Given the description of an element on the screen output the (x, y) to click on. 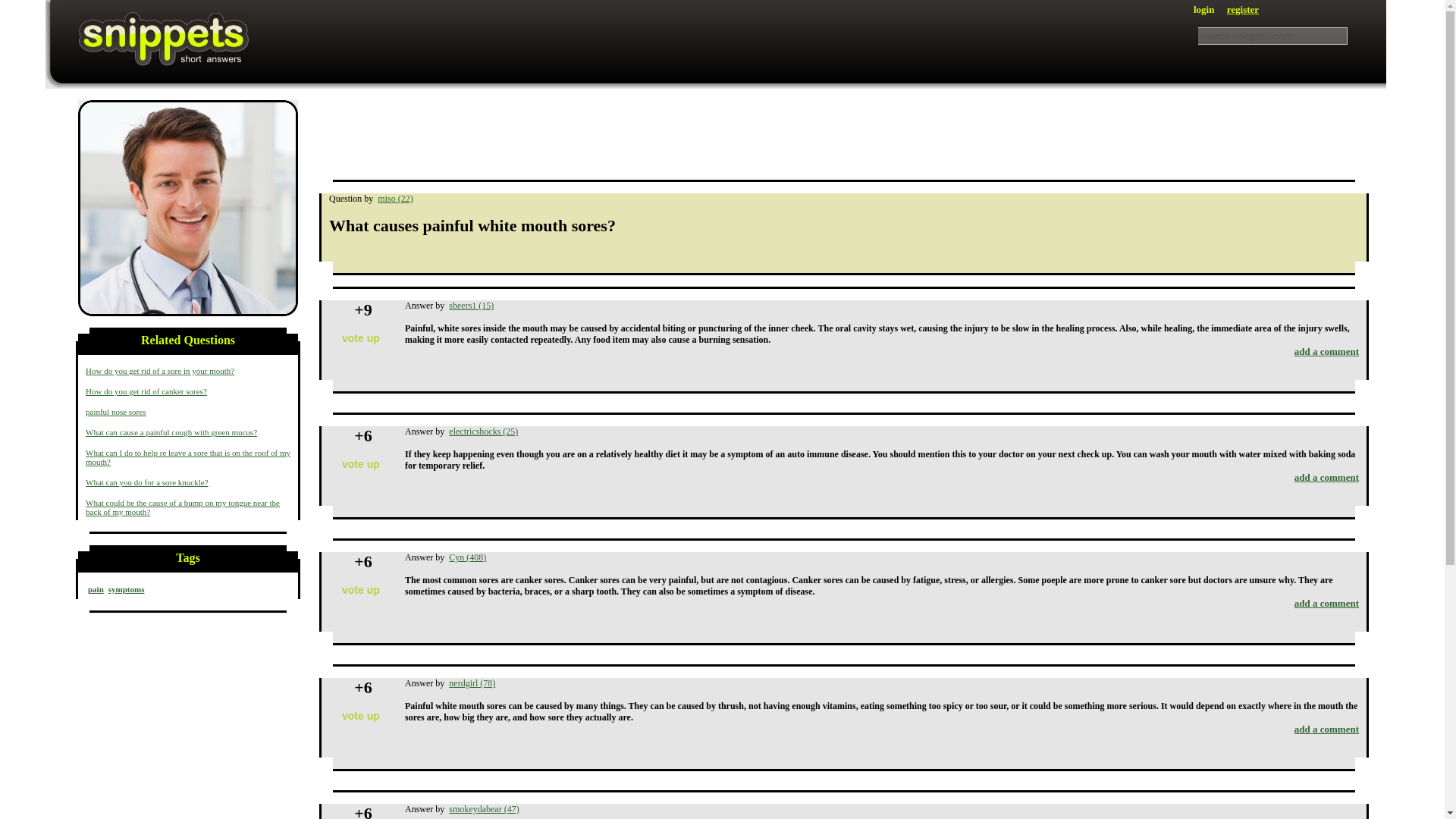
symptoms (125, 588)
painful nose sores (115, 411)
add a comment (1326, 477)
symptoms (188, 207)
vote up (361, 716)
How do you get rid of a sore in your mouth? (159, 370)
add a comment (1326, 603)
add a comment (1326, 728)
vote up (361, 590)
What can cause a painful cough with green mucus? (171, 431)
search snippets.com (1273, 36)
pain (95, 588)
add a comment (1326, 351)
